Given the description of an element on the screen output the (x, y) to click on. 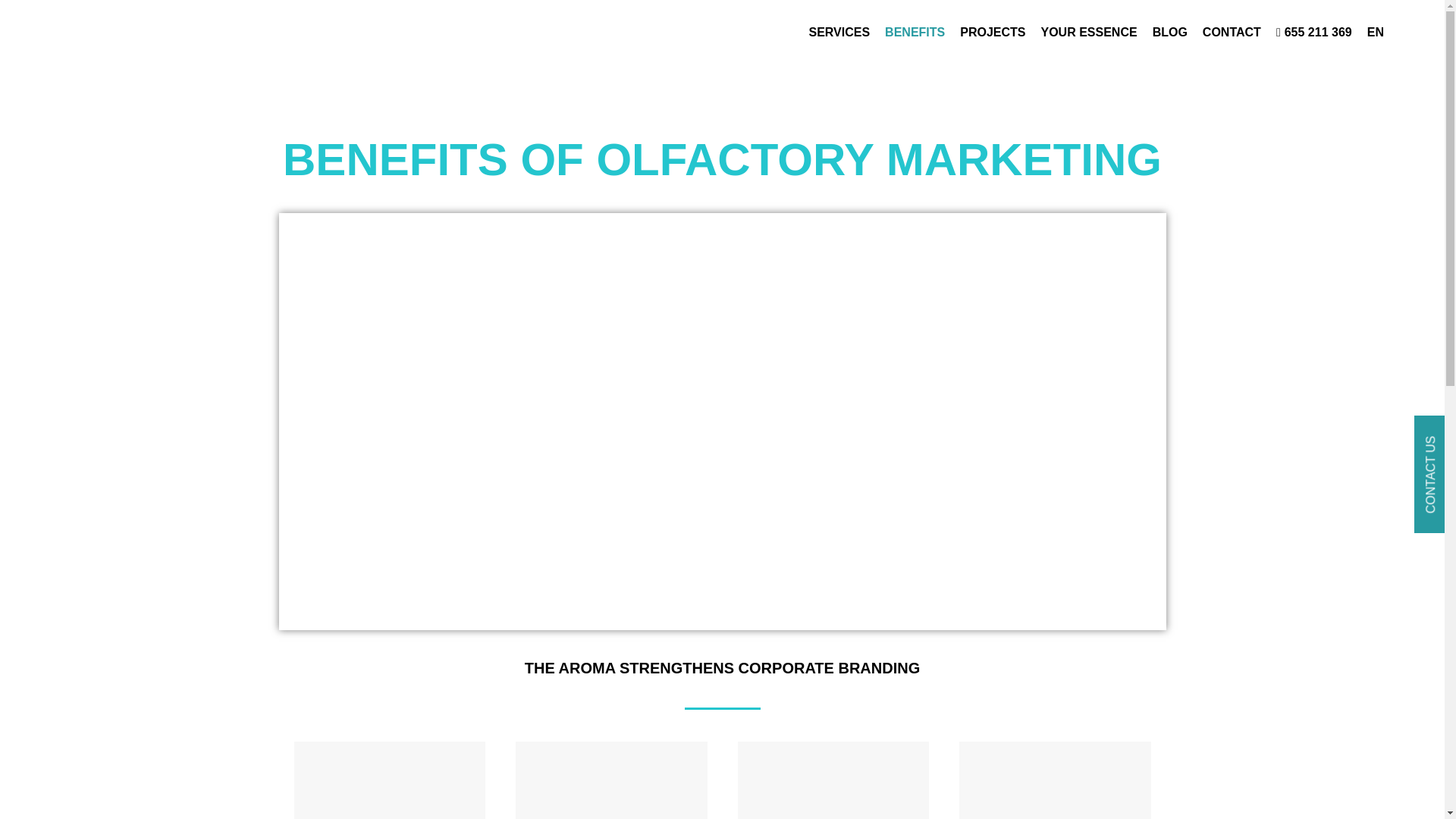
BLOG (1170, 32)
655 211 369 (1314, 32)
SERVICES (838, 32)
PROJECTS (992, 32)
YOUR ESSENCE (1089, 32)
BENEFITS (914, 32)
CONTACT (1231, 32)
